Given the description of an element on the screen output the (x, y) to click on. 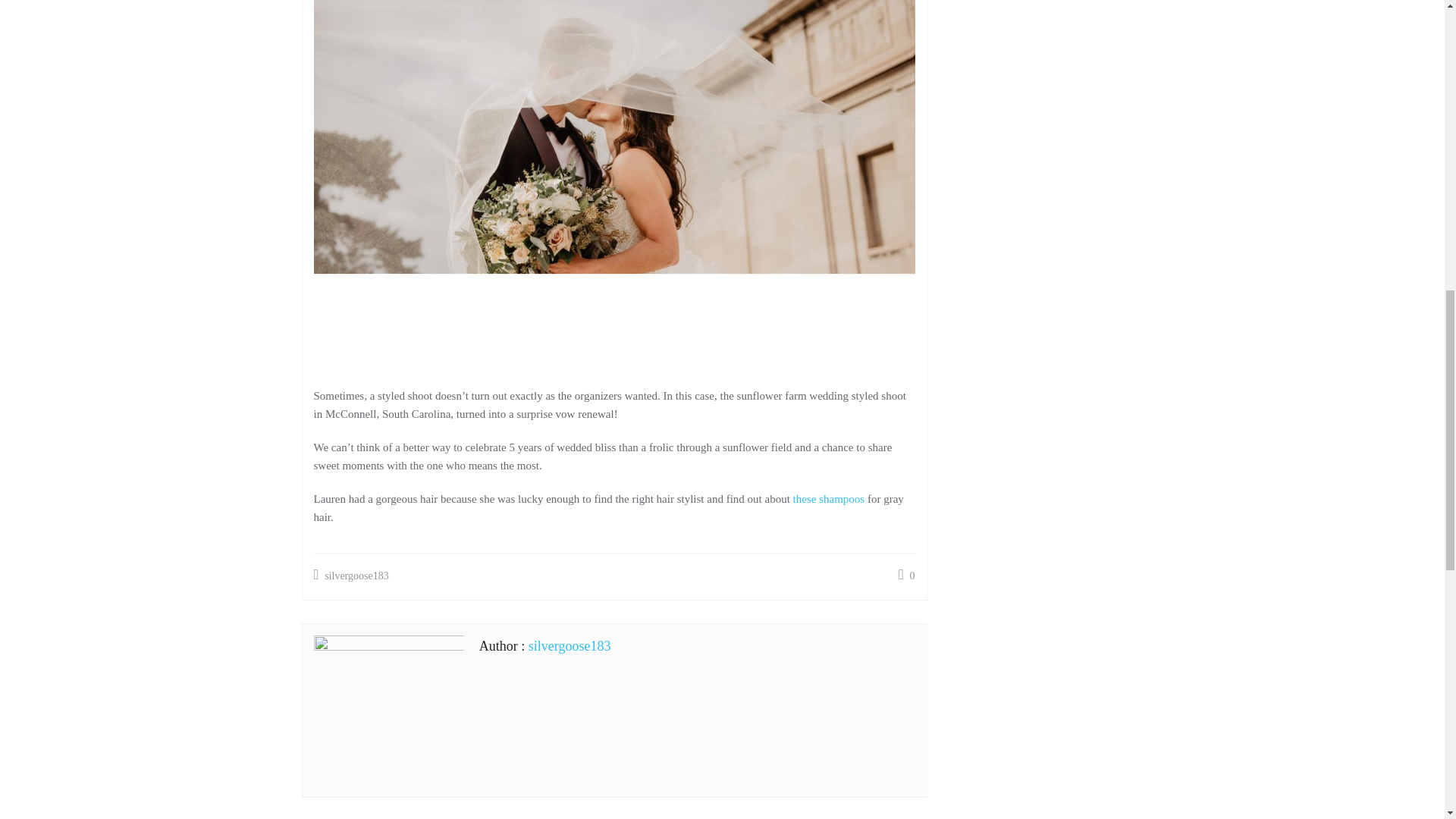
Author : silvergoose183 (545, 645)
these shampoos (828, 499)
silvergoose183 (351, 575)
